Given the description of an element on the screen output the (x, y) to click on. 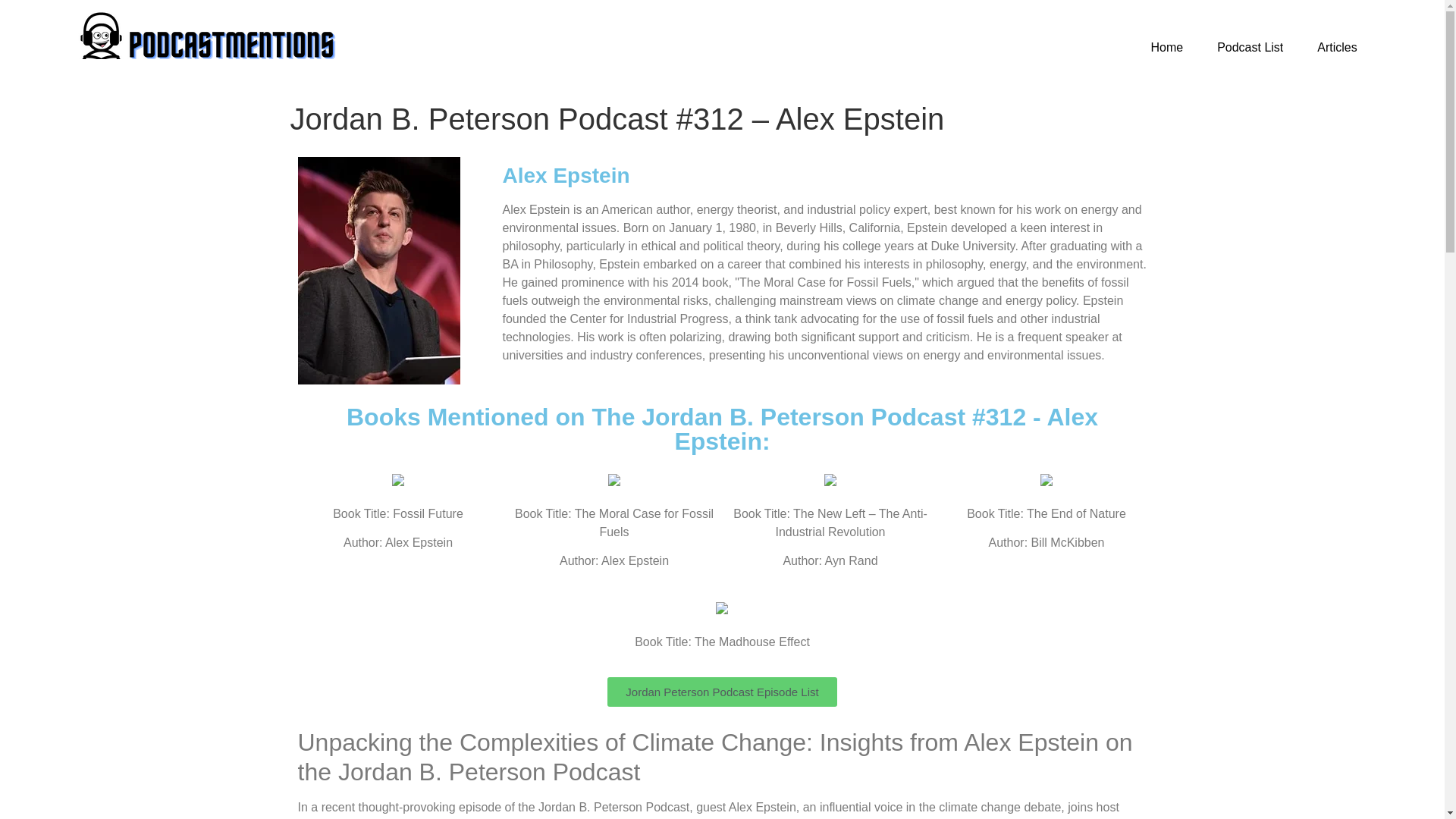
Articles (1336, 47)
Podcast List (1250, 47)
Alex Epstein (565, 175)
Home (1166, 47)
Jordan Peterson Podcast Episode List (721, 691)
